Given the description of an element on the screen output the (x, y) to click on. 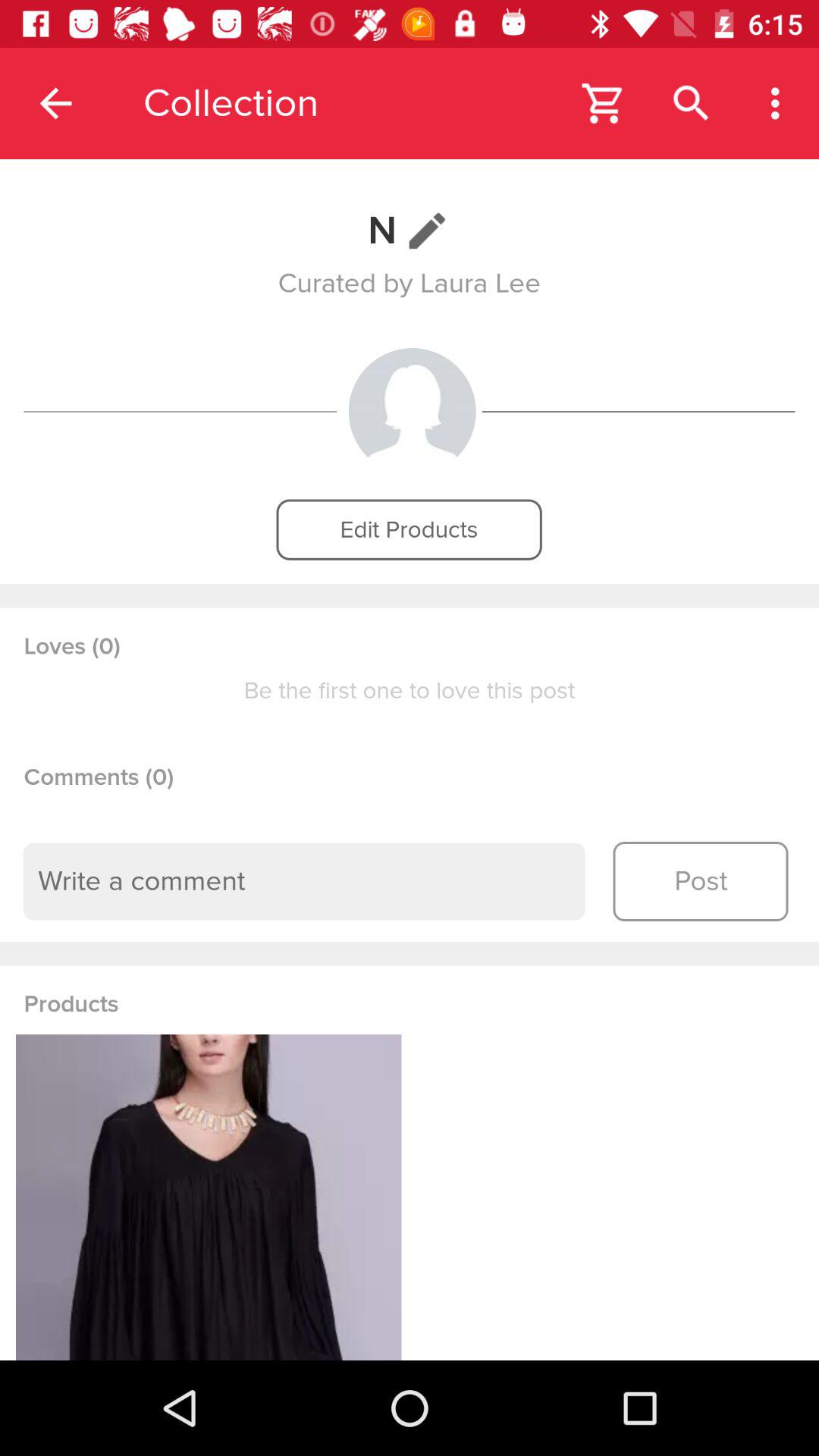
shopping cart (603, 103)
